Given the description of an element on the screen output the (x, y) to click on. 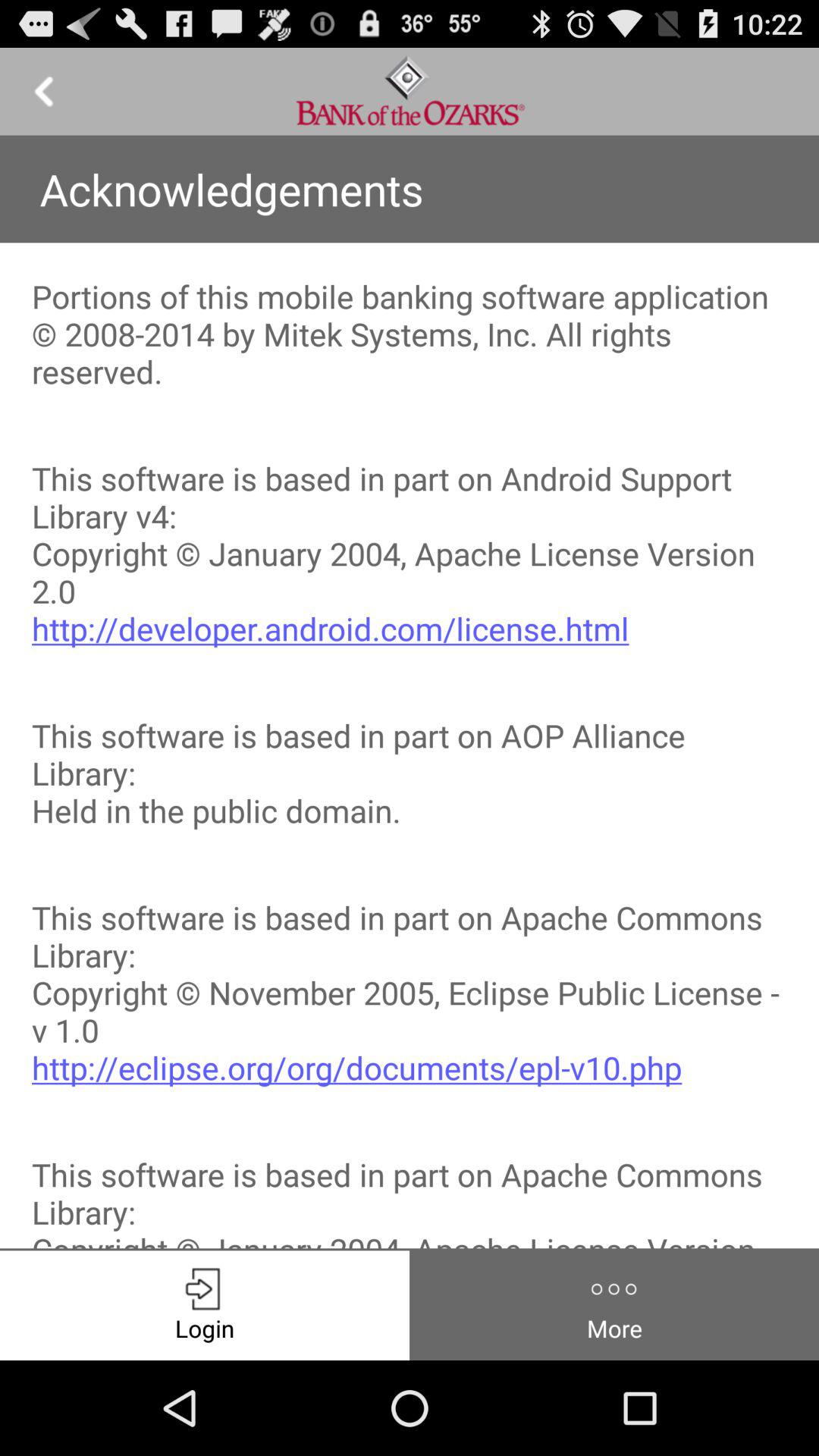
return to the previous page (43, 91)
